Given the description of an element on the screen output the (x, y) to click on. 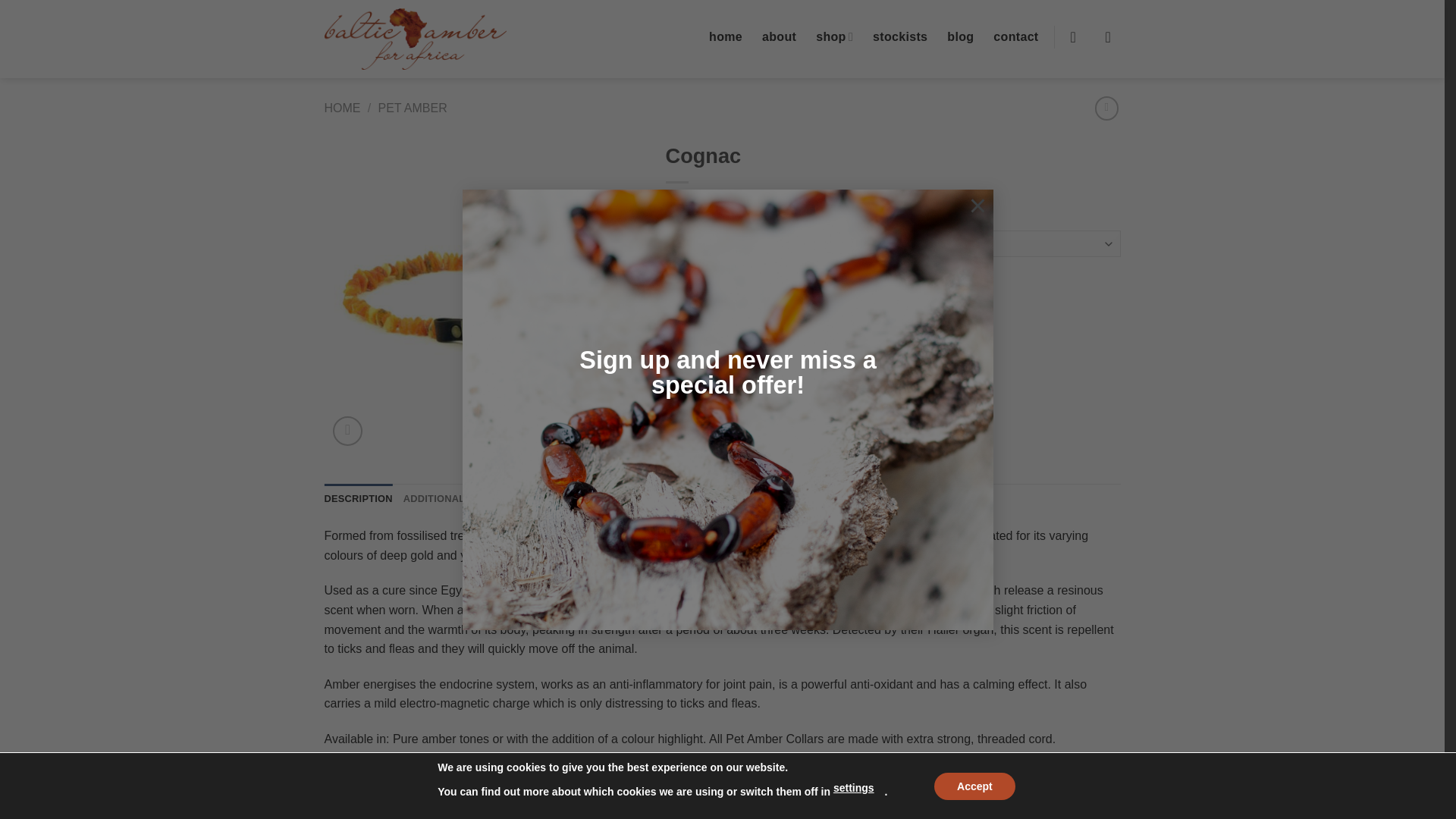
HOME (342, 107)
Email to a Friend (732, 360)
pets-cognac (483, 294)
blog (960, 35)
ADD TO CART (807, 297)
Baltic Amber of Africa (415, 38)
Pin on Pinterest (760, 360)
1 (697, 297)
contact (1015, 35)
home (725, 35)
Share on Twitter (706, 360)
stockists (899, 35)
Share on LinkedIn (789, 360)
DESCRIPTION (358, 499)
about (778, 35)
